Given the description of an element on the screen output the (x, y) to click on. 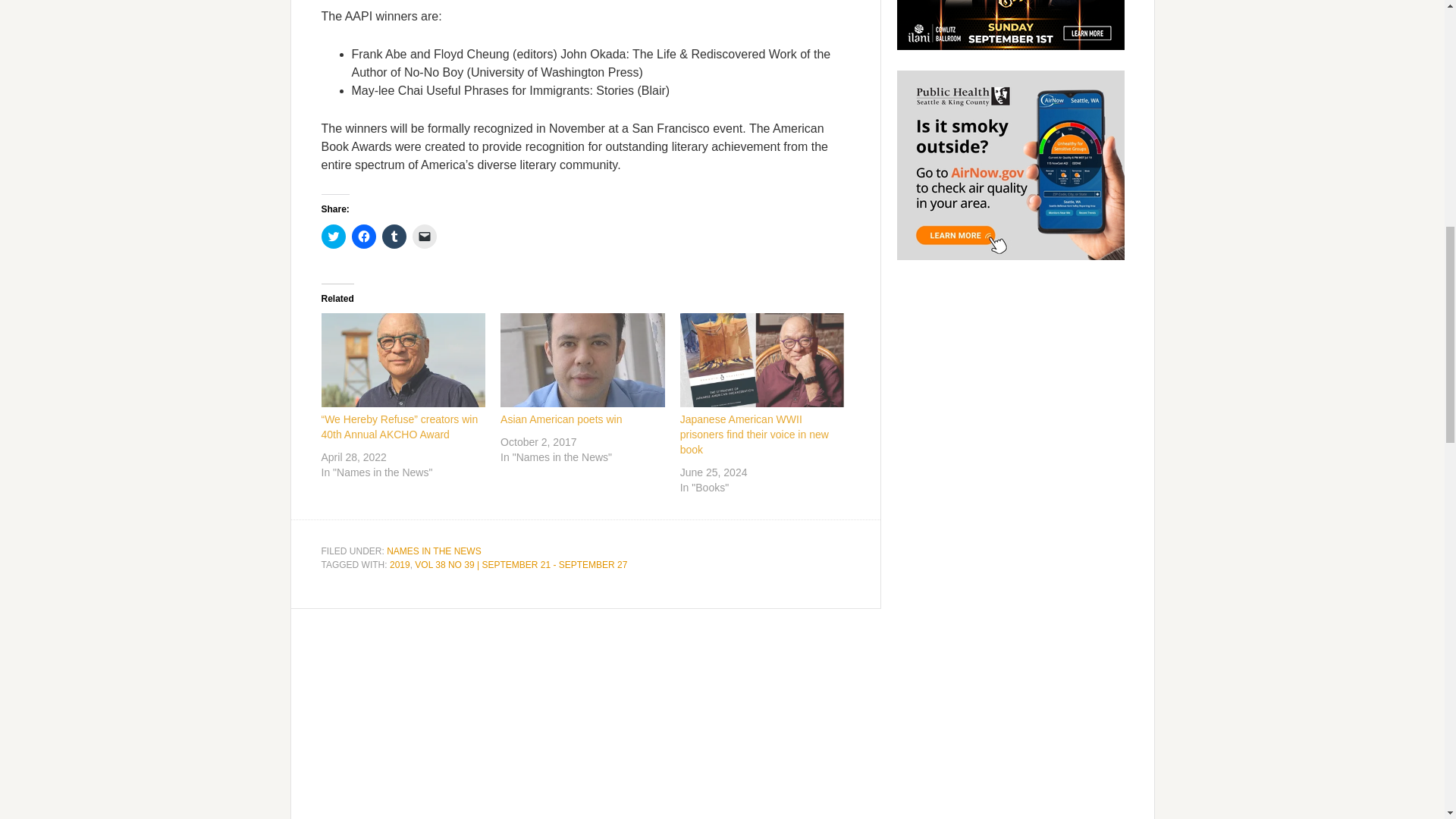
Click to share on Facebook (363, 236)
Asian American poets win (582, 359)
Click to share on Twitter (333, 236)
Click to share on Tumblr (393, 236)
Click to email a link to a friend (424, 236)
Asian American poets win (560, 419)
